Given the description of an element on the screen output the (x, y) to click on. 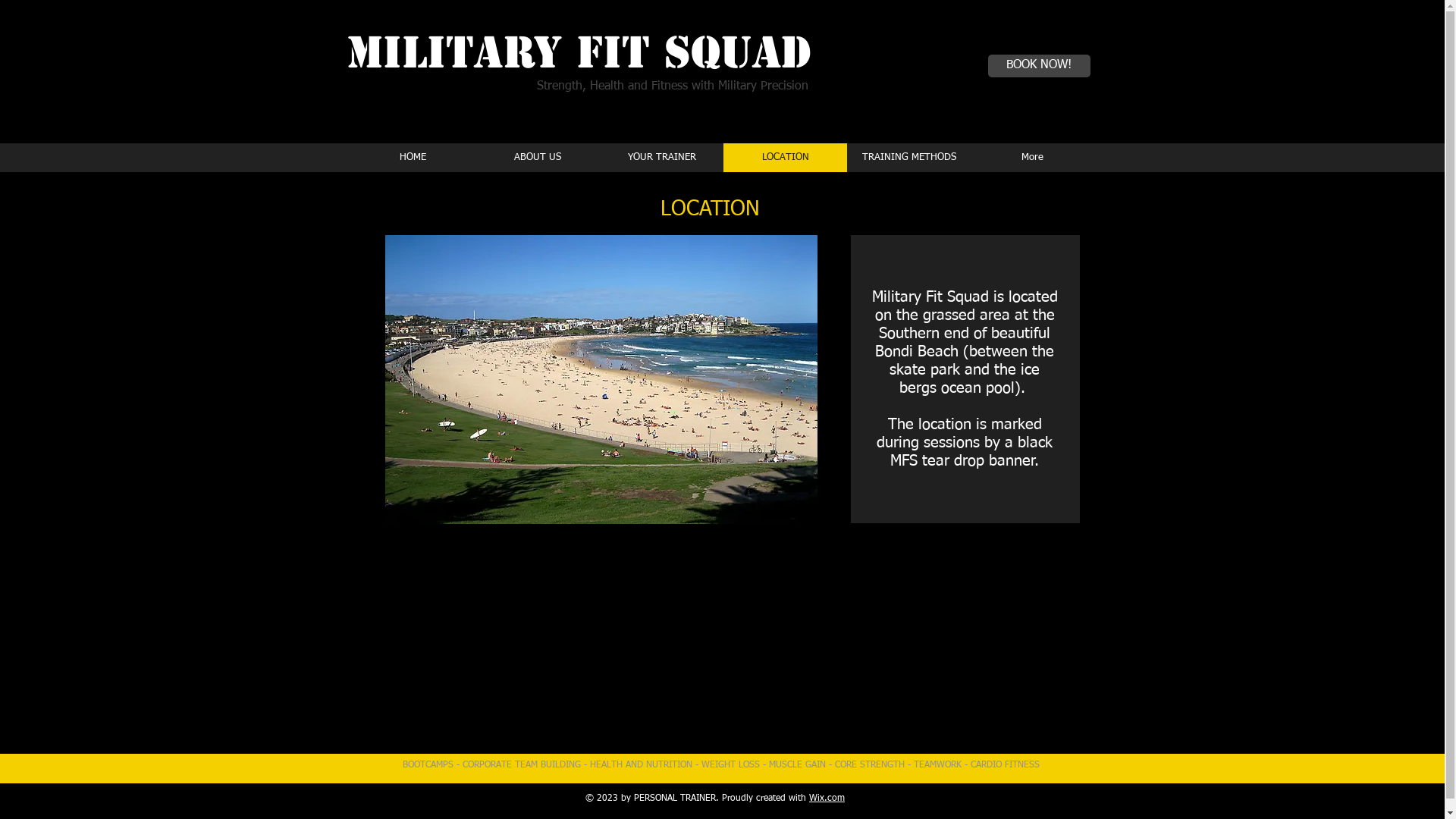
ABOUT US Element type: text (536, 157)
BOOK NOW! Element type: text (1038, 65)
Google Maps Element type: hover (732, 646)
Wix.com Element type: text (826, 798)
TRAINING METHODS Element type: text (907, 157)
LOCATION Element type: text (785, 157)
YOUR TRAINER Element type: text (660, 157)
800px-Bondi_Beach_Sydney_Australia_7.jpg Element type: hover (601, 379)
HOME Element type: text (412, 157)
